Given the description of an element on the screen output the (x, y) to click on. 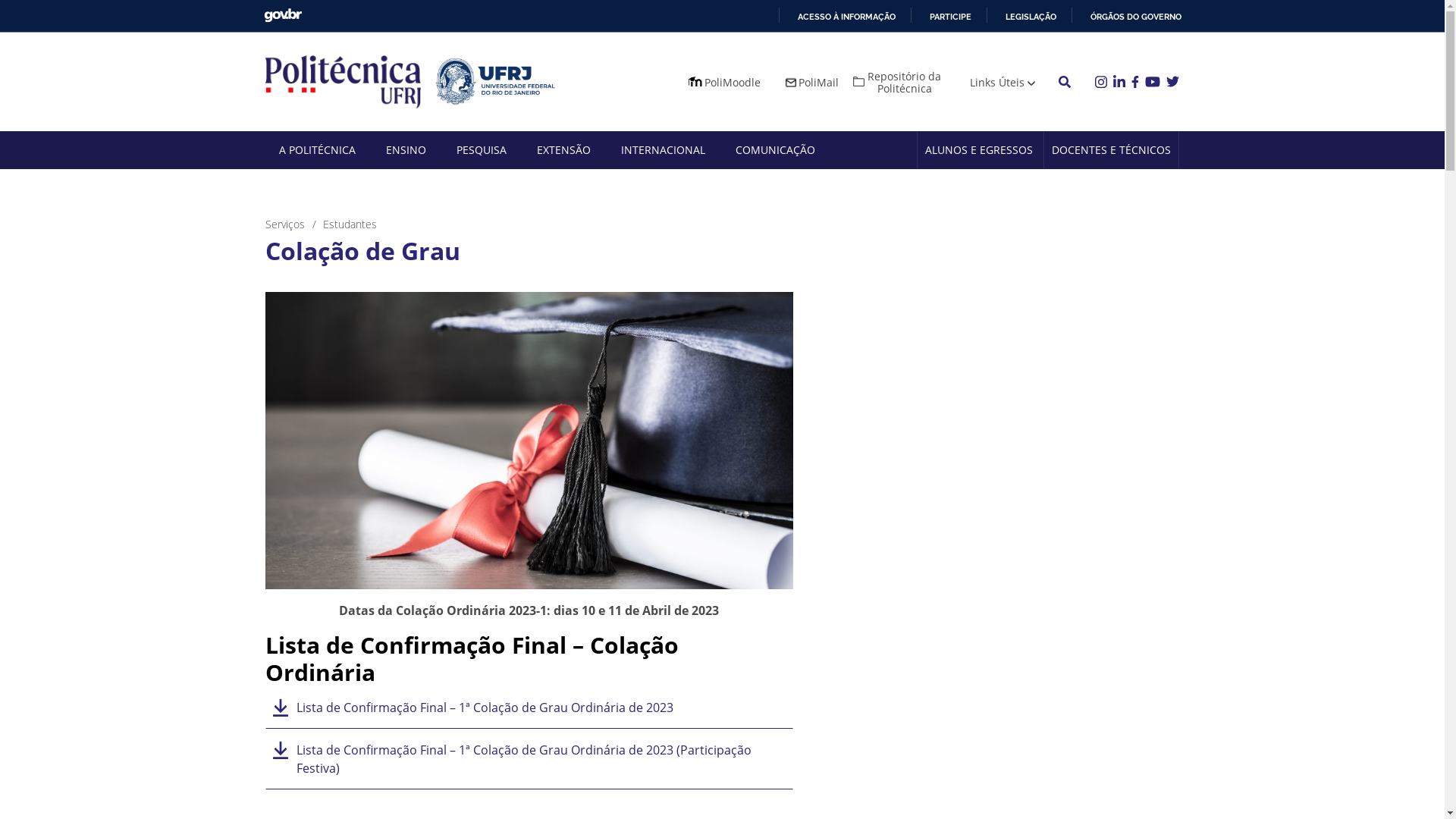
INTERNACIONAL Element type: text (662, 150)
PoliMoodle Element type: text (723, 82)
ALUNOS E EGRESSOS Element type: text (978, 150)
GOVBR Element type: text (282, 14)
PoliMail Element type: text (811, 82)
ENSINO Element type: text (405, 150)
PARTICIPE Element type: text (943, 16)
PESQUISA Element type: text (481, 150)
